Given the description of an element on the screen output the (x, y) to click on. 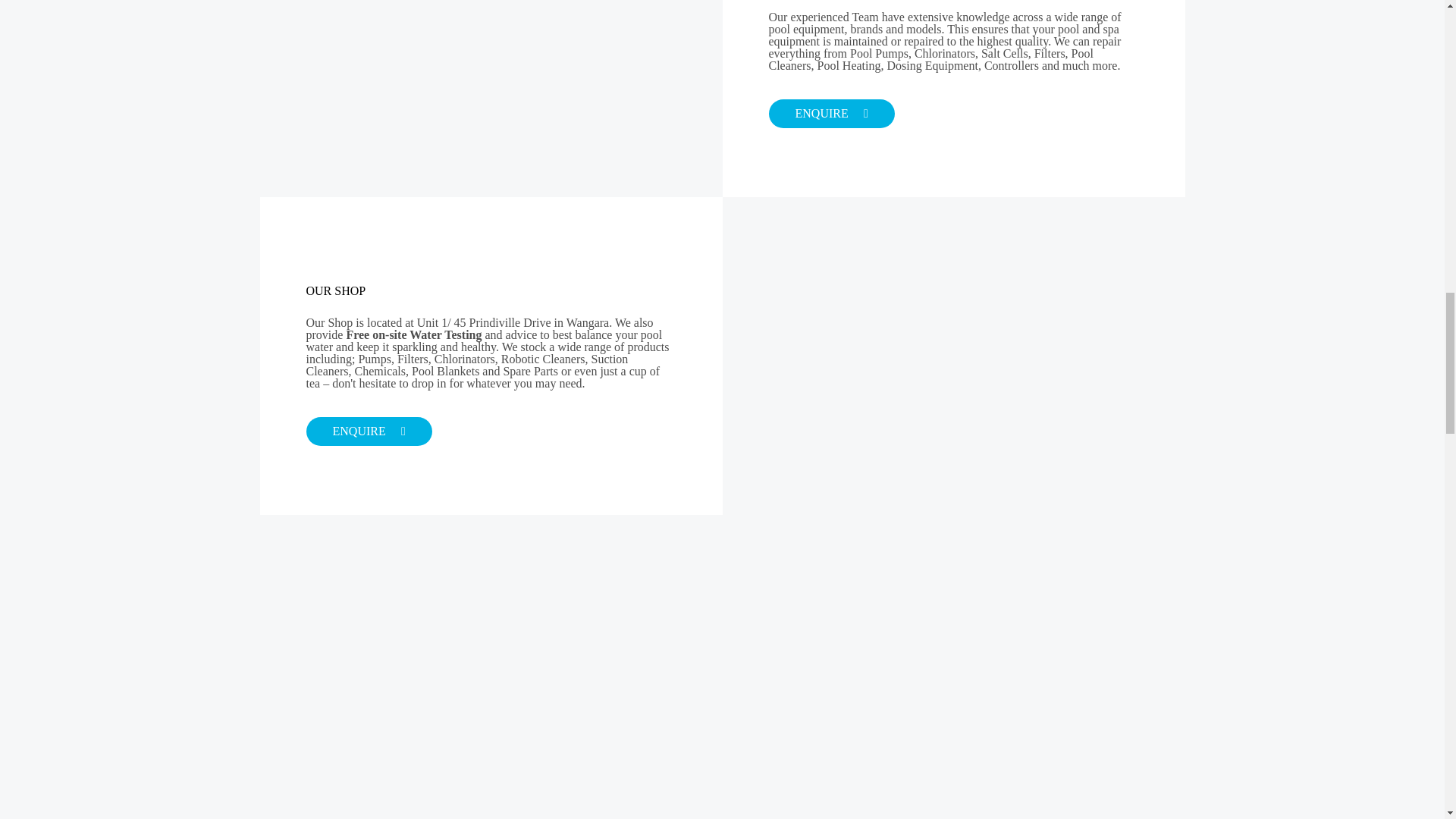
ENQUIRE (831, 113)
ENQUIRE (368, 430)
